Given the description of an element on the screen output the (x, y) to click on. 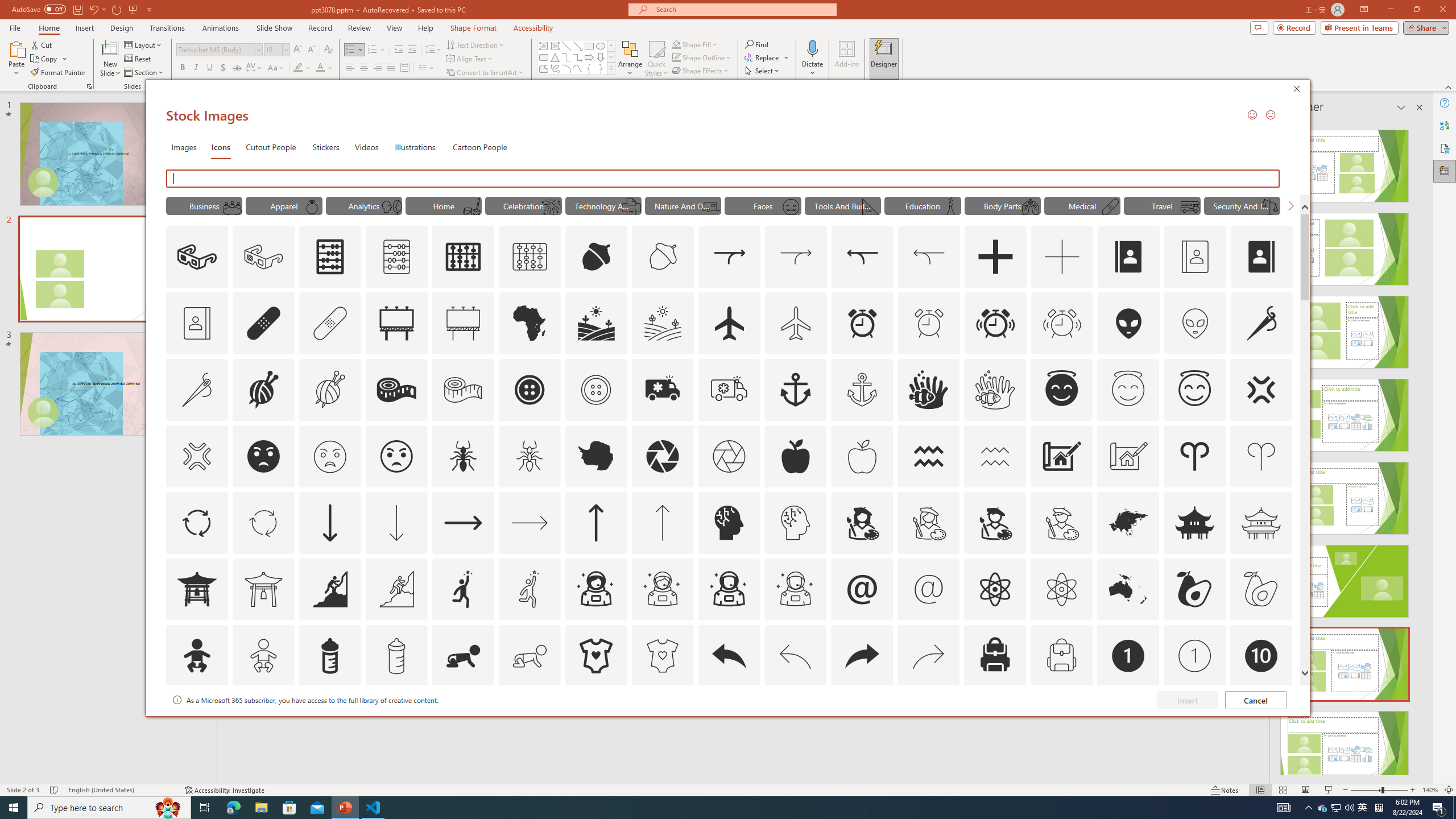
Zoom 140% (1430, 790)
AutomationID: Icons_Aries (1194, 455)
Font Color Red (320, 67)
AutomationID: _134_Angel_Face_A (1061, 388)
AutomationID: Icons_Ring_M (311, 206)
AutomationID: Icons_Africa (529, 323)
